Given the description of an element on the screen output the (x, y) to click on. 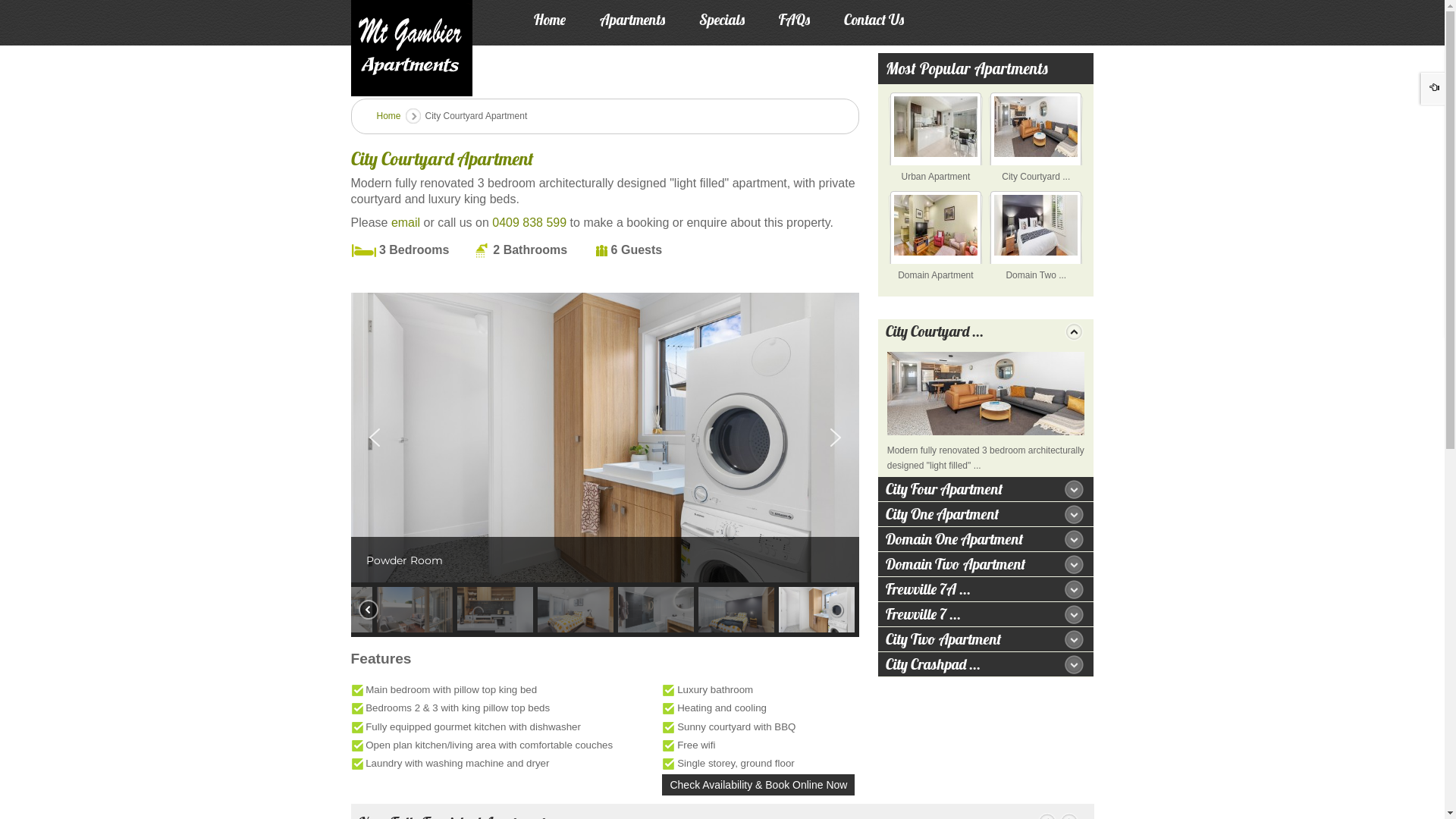
Home Element type: text (549, 23)
Domain Apartment Element type: text (934, 274)
Home Element type: text (388, 115)
0409 838 599 Element type: text (529, 222)
Contact Us Element type: text (873, 23)
City Courtyard Apartment Element type: text (441, 158)
Check Availability & Book Online Now Element type: text (758, 784)
email Element type: text (405, 222)
Mt Gambier Apartments Element type: hover (410, 48)
City Courtyard ... Element type: text (1035, 176)
Urban Apartment Element type: text (935, 176)
Domain Two ... Element type: text (1035, 274)
City Courtyard Apartment Element type: hover (986, 393)
